Given the description of an element on the screen output the (x, y) to click on. 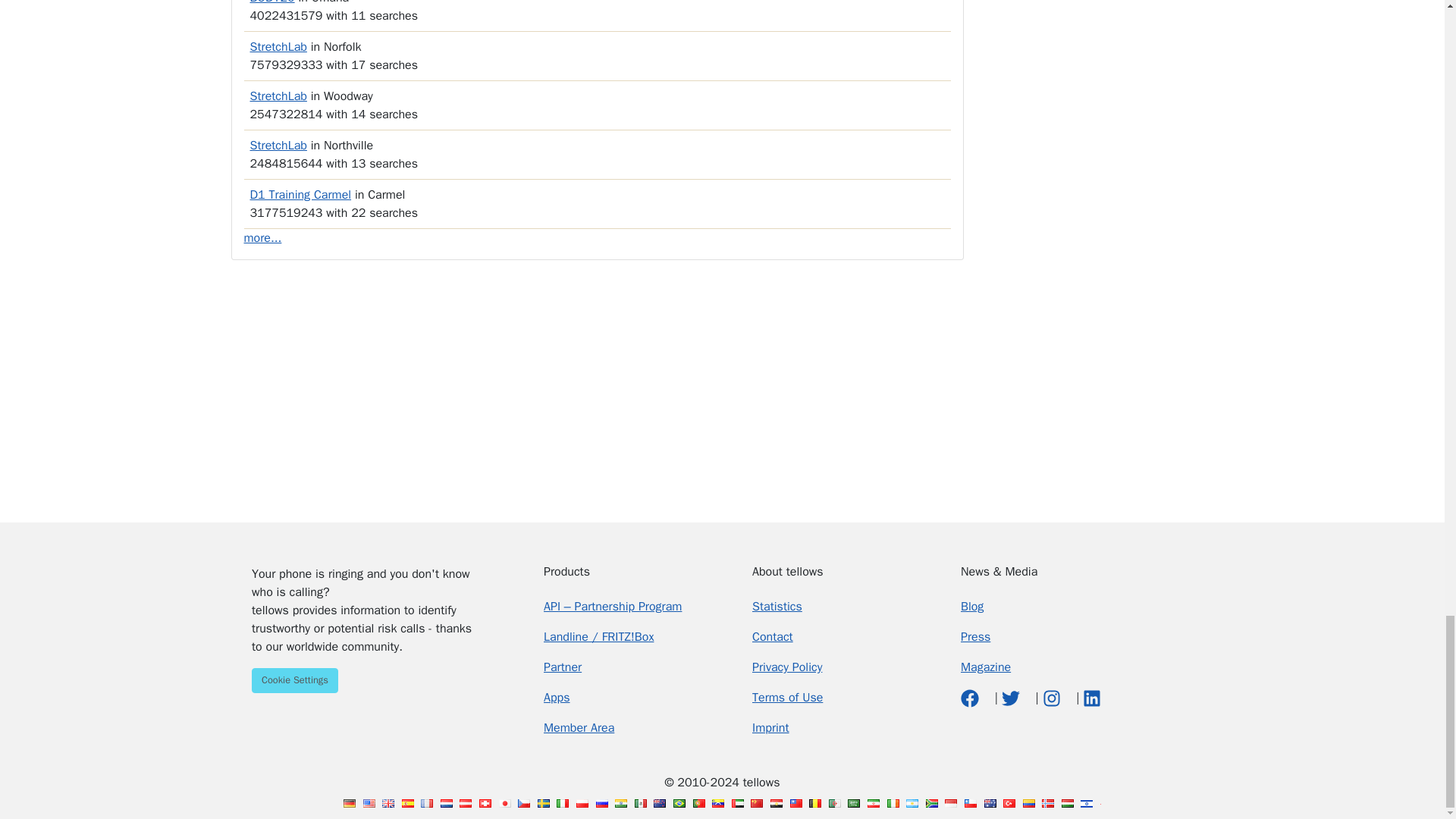
Blog (972, 606)
tellows Great Britain (387, 803)
twitter (1012, 697)
tellows Netherlands (446, 803)
tellows Spain (407, 803)
LinkedIn (1091, 697)
tellows France (426, 803)
tellows Austria (465, 803)
Instagram (1053, 697)
Magazin (985, 667)
